Given the description of an element on the screen output the (x, y) to click on. 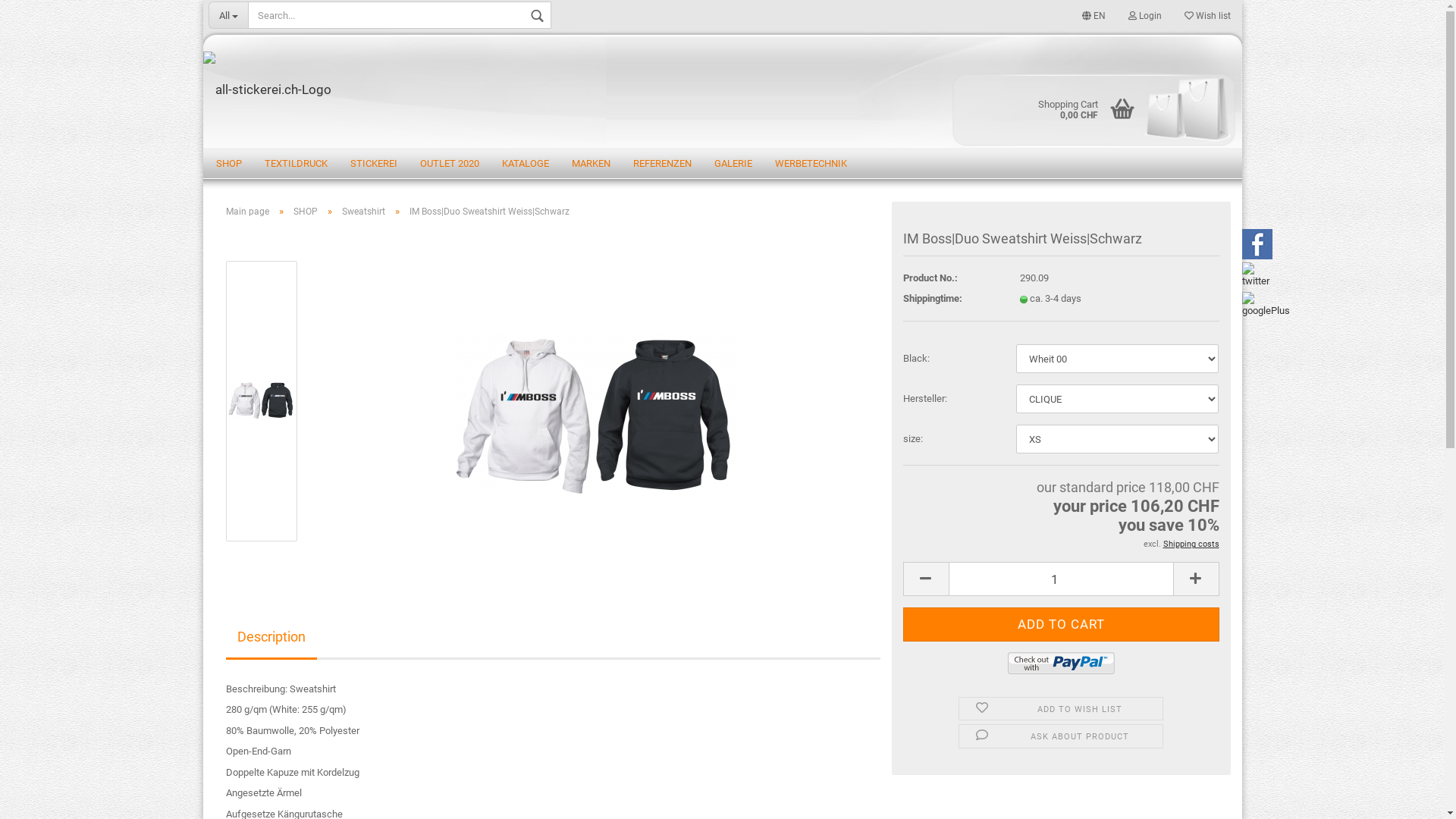
OUTLET 2020 Element type: text (448, 162)
MARKEN Element type: text (590, 162)
STICKEREI Element type: text (372, 162)
 Login Element type: text (1144, 15)
IM Boss|Duo Sweatshirt Weiss|Schwarz Element type: hover (596, 399)
IM Boss|Duo Sweatshirt Weiss|Schwarz Element type: hover (596, 413)
Shipping costs Element type: text (1191, 544)
REFERENZEN Element type: text (661, 162)
Main page Element type: text (247, 211)
WERBETECHNIK Element type: text (809, 162)
Description Element type: text (270, 638)
Add to cart Element type: text (1061, 624)
Sweatshirt Element type: text (362, 211)
ADD TO WISH LIST Element type: text (1060, 708)
SHOP Element type: text (304, 211)
Save Element type: text (1010, 220)
GALERIE Element type: text (732, 162)
TEXTILDRUCK Element type: text (295, 162)
Login Element type: text (1062, 192)
all-stickerei.ch Element type: hover (722, 88)
 Wish list Element type: text (1206, 15)
Shopping Cart
0,00 CHF Element type: text (1063, 108)
SHOP Element type: text (228, 162)
EN Element type: text (1093, 15)
All Element type: text (227, 14)
Add to cart Element type: hover (1061, 624)
ASK ABOUT PRODUCT Element type: text (1060, 736)
KATALOGE Element type: text (524, 162)
Preview: IM Boss|Duo Sweatshirt Weiss|Schwarz Element type: hover (261, 399)
